Given the description of an element on the screen output the (x, y) to click on. 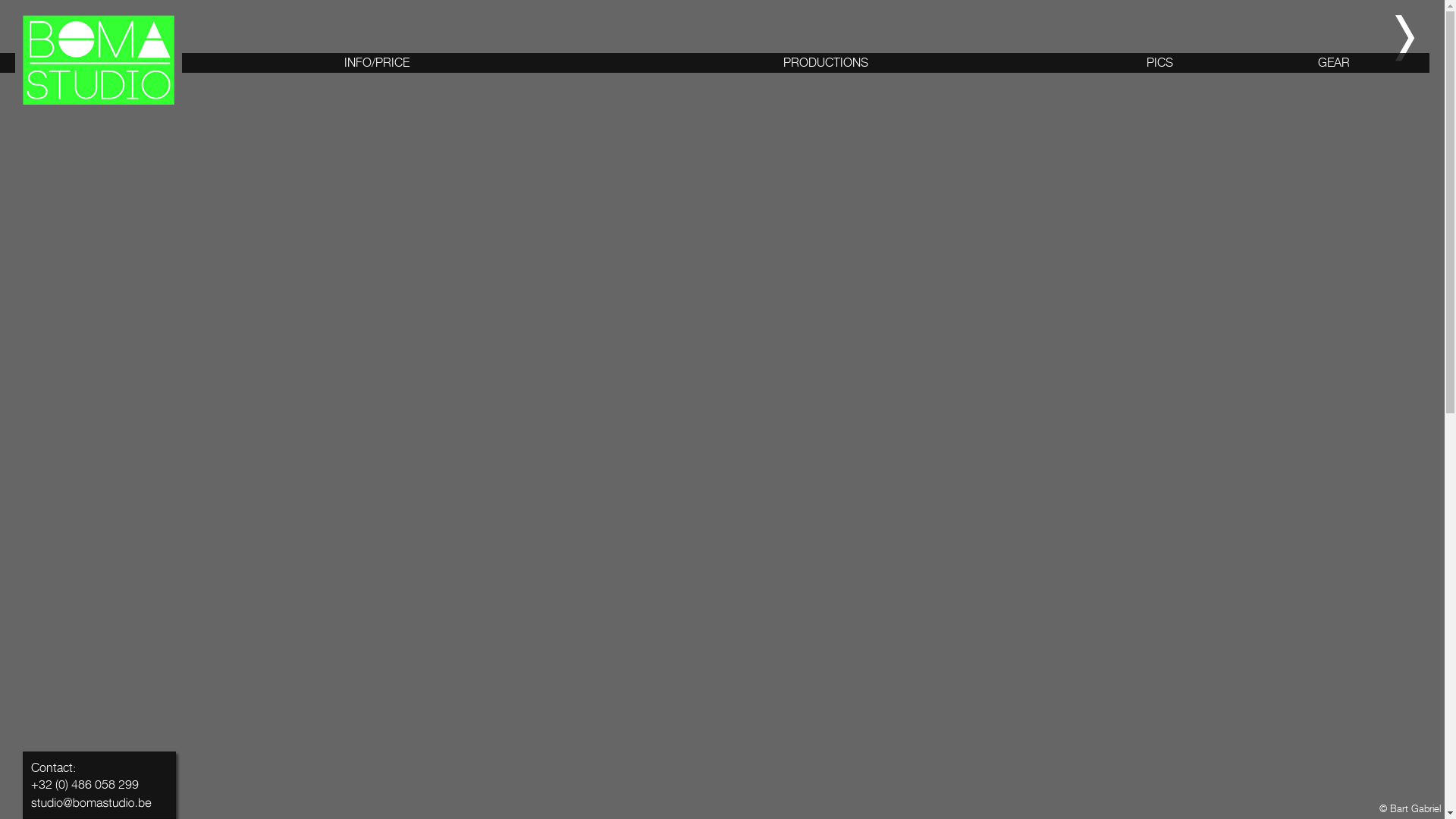
PRODUCTIONS Element type: text (825, 62)
INFO/PRICE Element type: text (376, 62)
GEAR Element type: text (1333, 62)
PICS Element type: text (1159, 62)
